Given the description of an element on the screen output the (x, y) to click on. 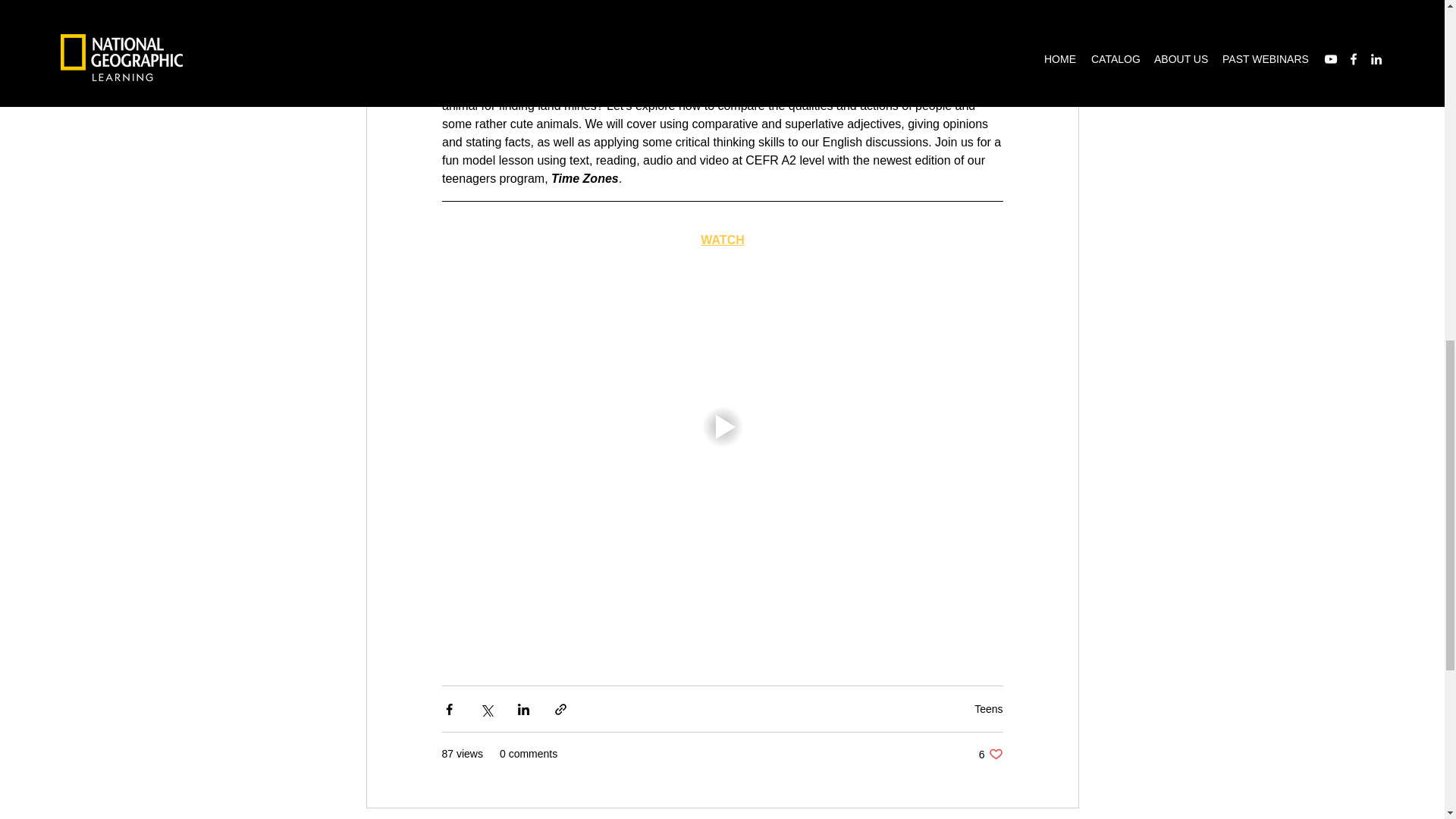
WATCH (990, 753)
Teens (722, 239)
